Given the description of an element on the screen output the (x, y) to click on. 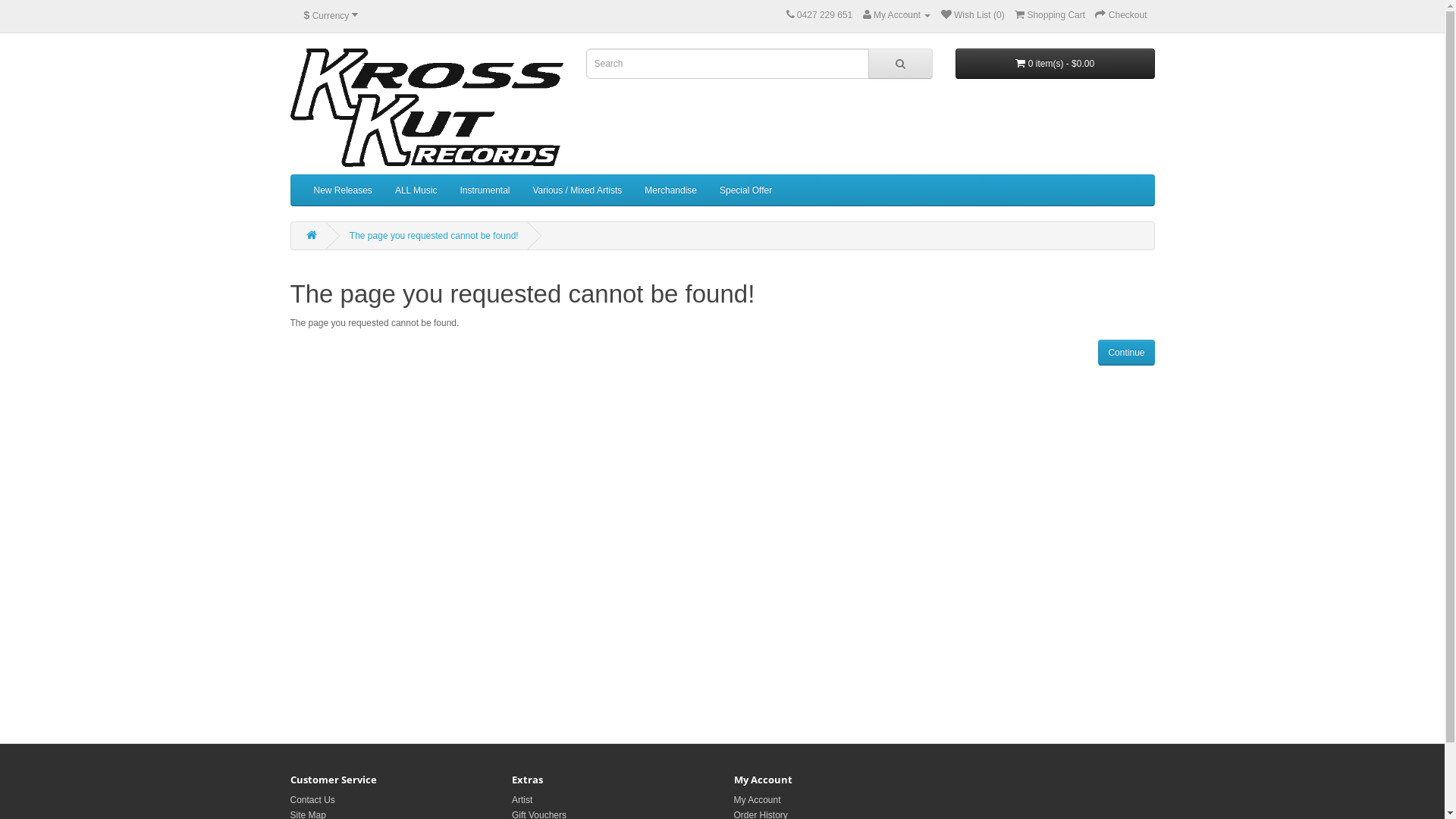
Shopping Cart Element type: text (1049, 14)
My Account Element type: text (896, 14)
Instrumental Element type: text (484, 190)
Wish List (0) Element type: text (972, 14)
My Account Element type: text (757, 799)
$ Currency Element type: text (330, 15)
Merchandise Element type: text (670, 190)
New Releases Element type: text (341, 190)
Continue Element type: text (1126, 352)
0 item(s) - $0.00 Element type: text (1054, 63)
Checkout Element type: text (1120, 14)
Artist Element type: text (521, 799)
The page you requested cannot be found! Element type: text (433, 235)
ALL Music Element type: text (415, 190)
Contact Us Element type: text (311, 799)
Kross Kut Records Element type: hover (425, 107)
Various / Mixed Artists Element type: text (576, 190)
Special Offer Element type: text (745, 190)
